Given the description of an element on the screen output the (x, y) to click on. 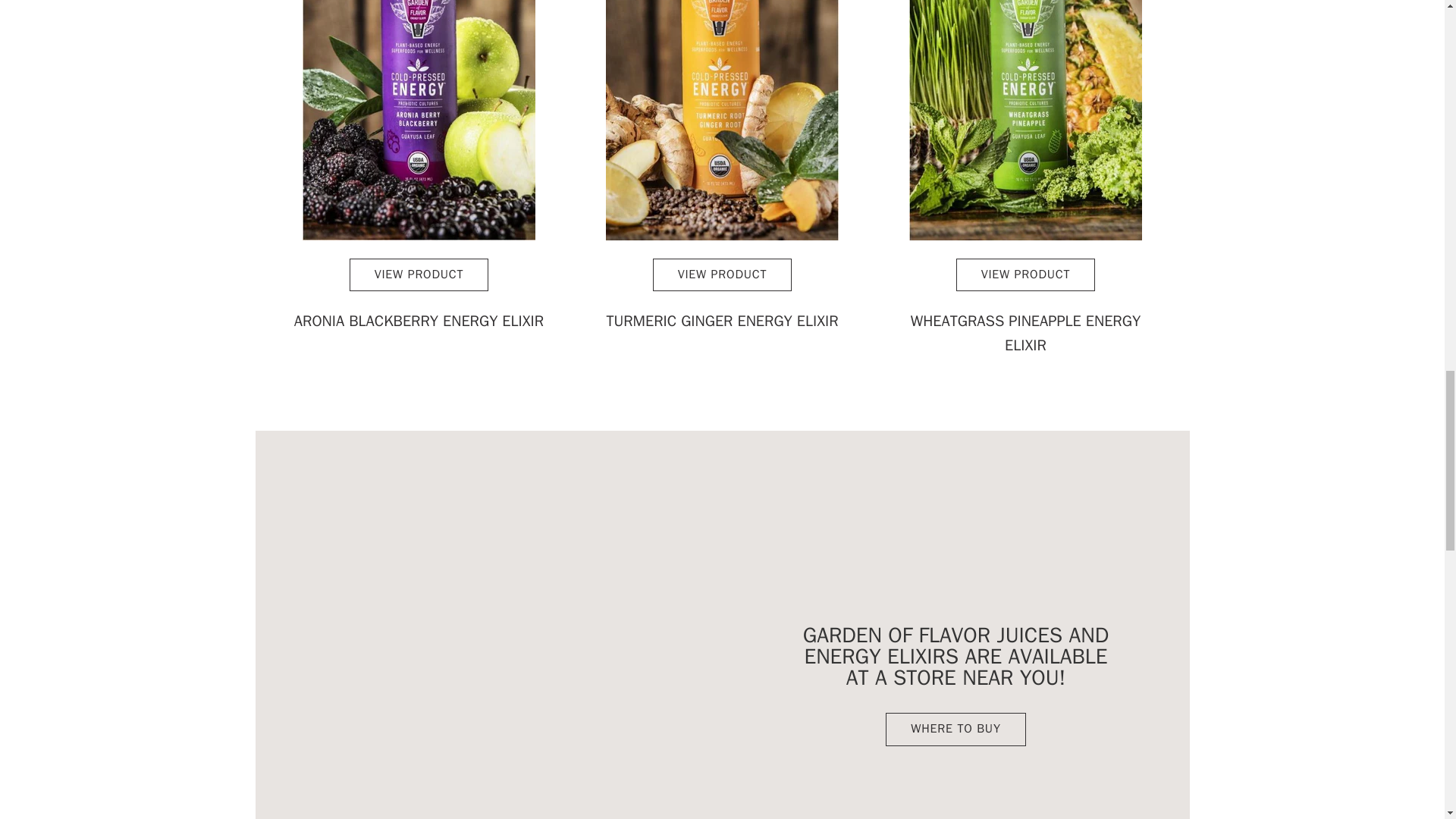
TURMERIC GINGER ENERGY ELIXIR (721, 321)
VIEW PRODUCT (1026, 274)
WHEATGRASS PINEAPPLE ENERGY ELIXIR (1024, 333)
VIEW PRODUCT (419, 274)
WHERE TO BUY (955, 729)
VIEW PRODUCT (722, 274)
ARONIA BLACKBERRY ENERGY ELIXIR (418, 321)
